Given the description of an element on the screen output the (x, y) to click on. 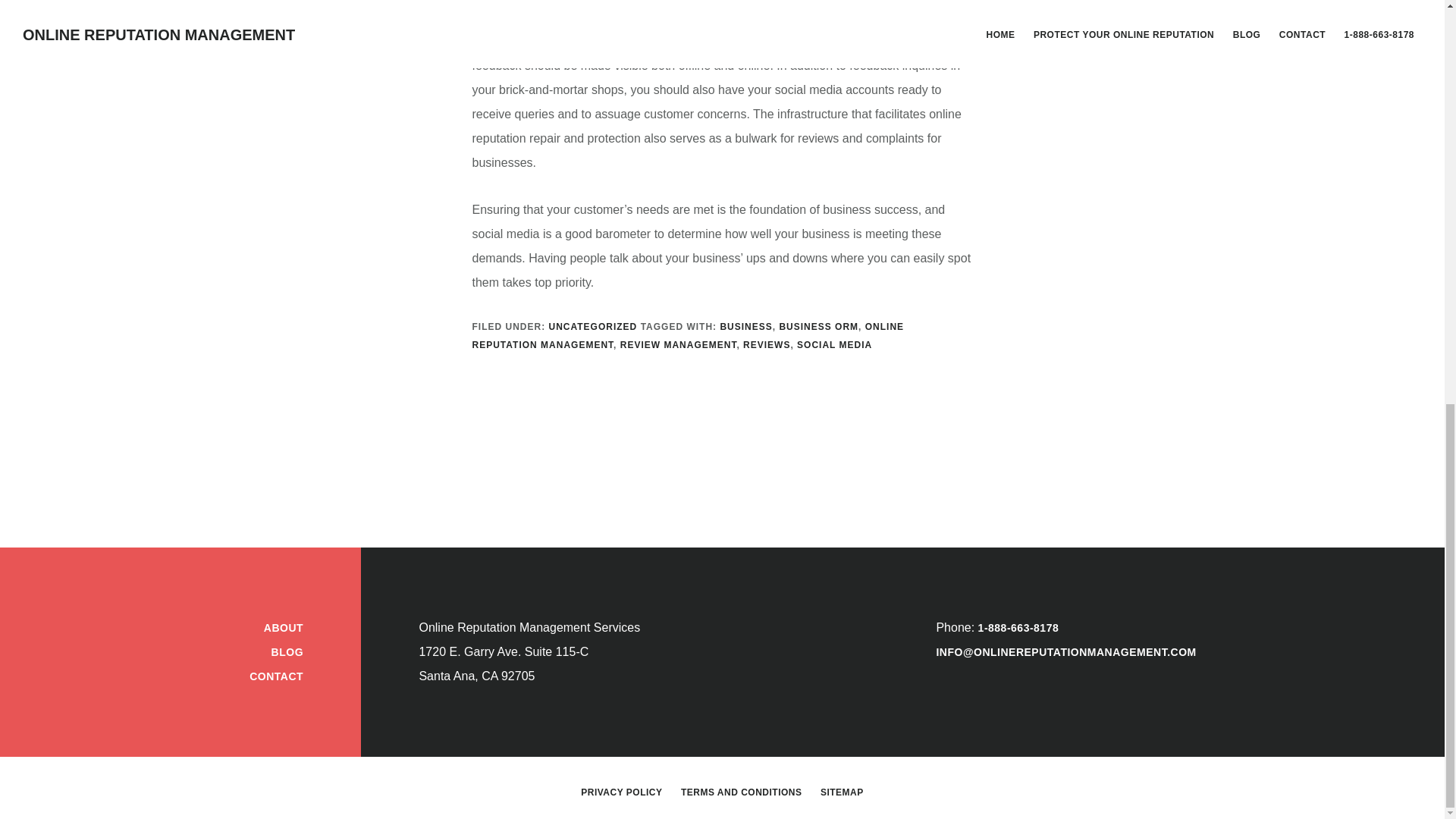
REVIEWS (766, 344)
ABOUT (282, 627)
SITEMAP (842, 791)
REVIEW MANAGEMENT (678, 344)
1-888-663-8178 (1018, 627)
PRIVACY POLICY (621, 791)
BUSINESS ORM (818, 326)
ONLINE REPUTATION MANAGEMENT (687, 335)
SOCIAL MEDIA (834, 344)
CONTACT (275, 676)
